Given the description of an element on the screen output the (x, y) to click on. 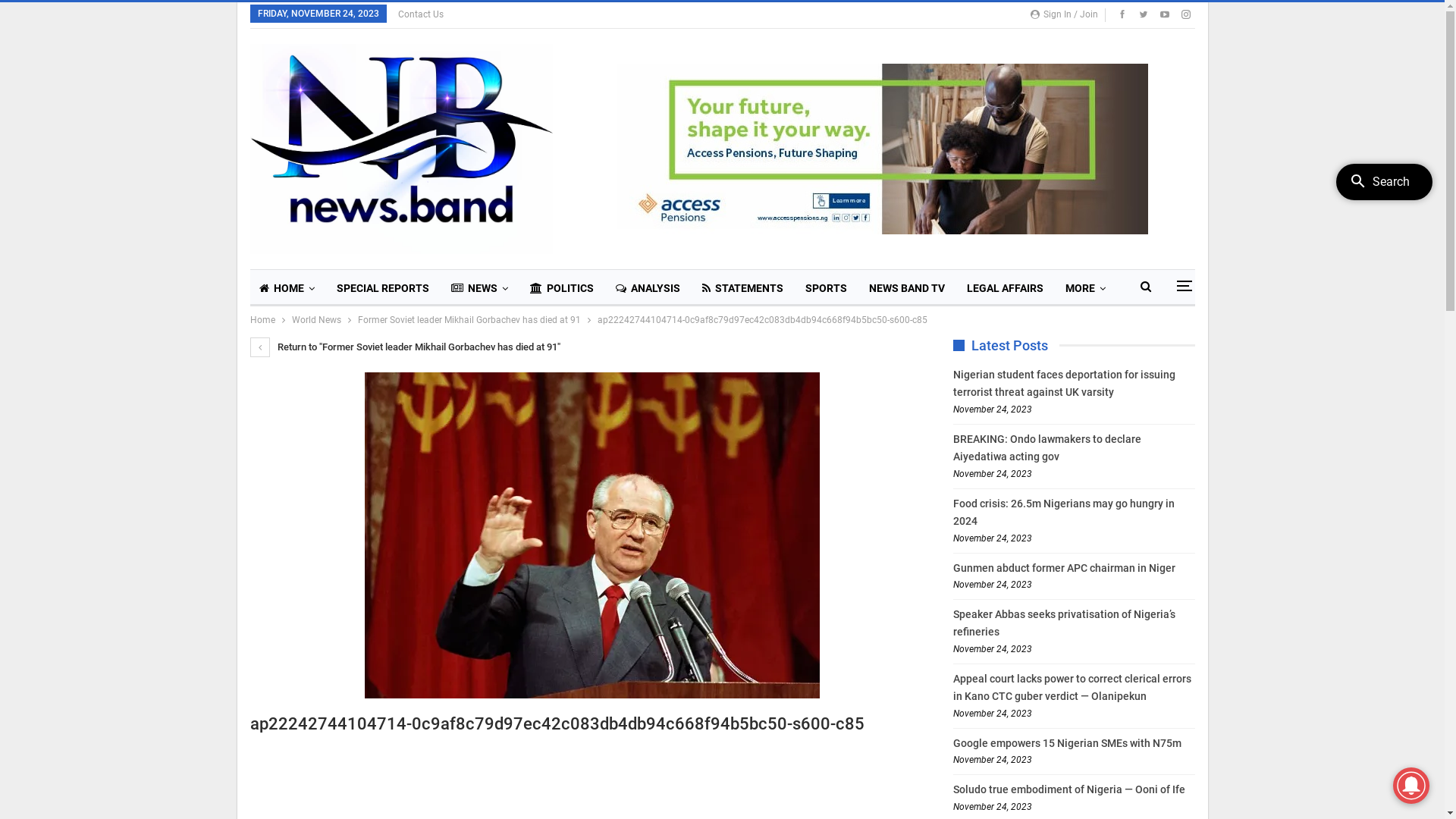
HOME Element type: text (286, 287)
NEWS Element type: text (478, 287)
World News Element type: text (315, 319)
MORE Element type: text (1084, 287)
Sign In / Join Element type: text (1066, 14)
NEWS BAND TV Element type: text (906, 287)
POLITICS Element type: text (561, 287)
Gunmen abduct former APC chairman in Niger Element type: text (1064, 567)
Former Soviet leader Mikhail Gorbachev has died at 91 Element type: text (468, 319)
SPORTS Element type: text (826, 287)
STATEMENTS Element type: text (742, 287)
Home Element type: text (262, 319)
Food crisis: 26.5m Nigerians may go hungry in 2024 Element type: text (1063, 512)
Google empowers 15 Nigerian SMEs with N75m Element type: text (1067, 743)
BREAKING: Ondo lawmakers to declare Aiyedatiwa acting gov Element type: text (1047, 448)
LEGAL AFFAIRS Element type: text (1004, 287)
SPECIAL REPORTS Element type: text (382, 287)
Contact Us Element type: text (419, 14)
ANALYSIS Element type: text (647, 287)
